Given the description of an element on the screen output the (x, y) to click on. 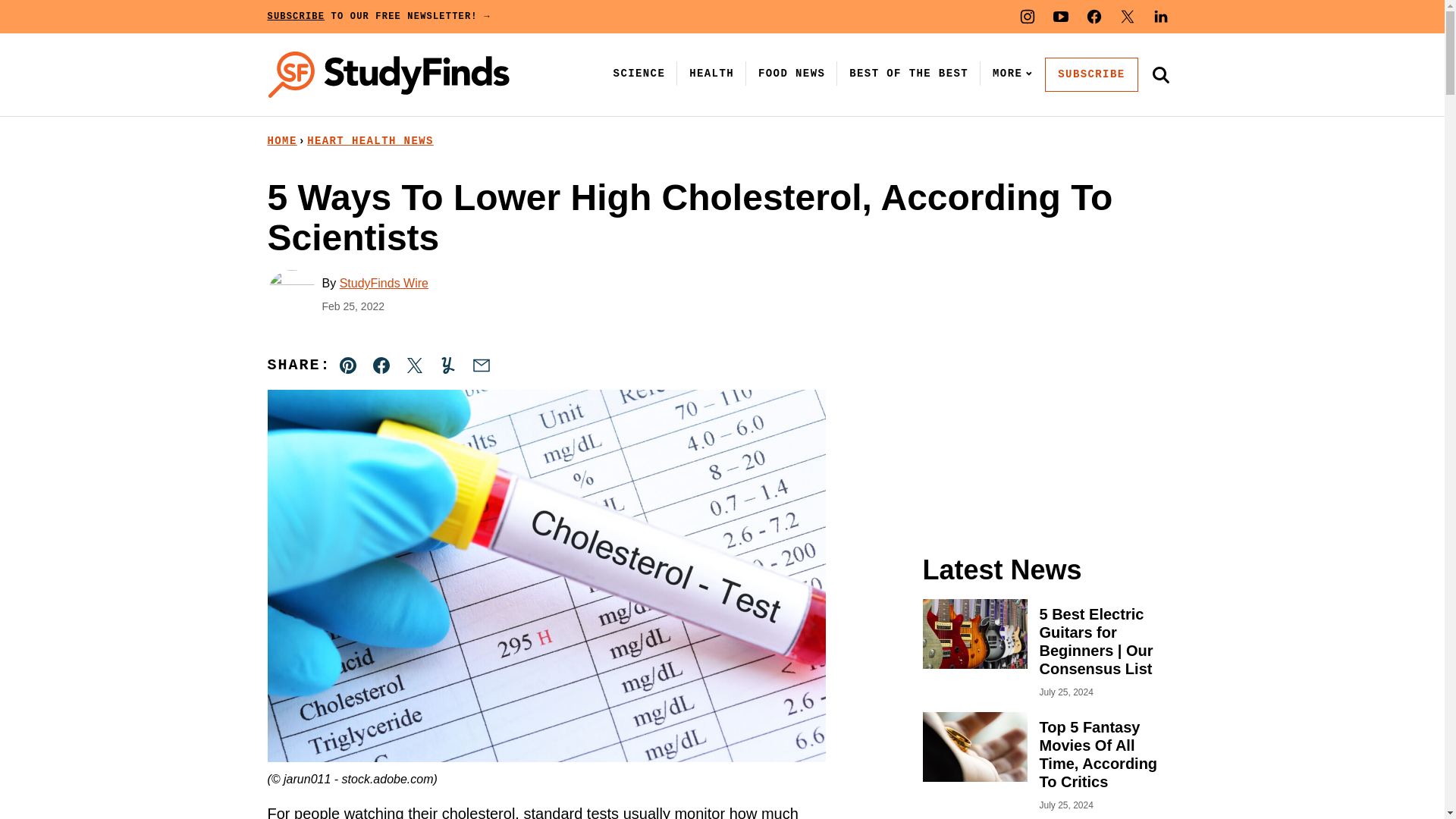
Share on Twitter (413, 365)
FOOD NEWS (791, 73)
HEALTH (711, 73)
SCIENCE (639, 73)
Share via Email (480, 365)
Share on Facebook (381, 365)
HEART HEALTH NEWS (370, 141)
SUBSCRIBE (1091, 74)
Share on Pinterest (348, 365)
Share on Yummly (447, 365)
HOME (281, 141)
MORE (1009, 73)
BEST OF THE BEST (908, 73)
